Given the description of an element on the screen output the (x, y) to click on. 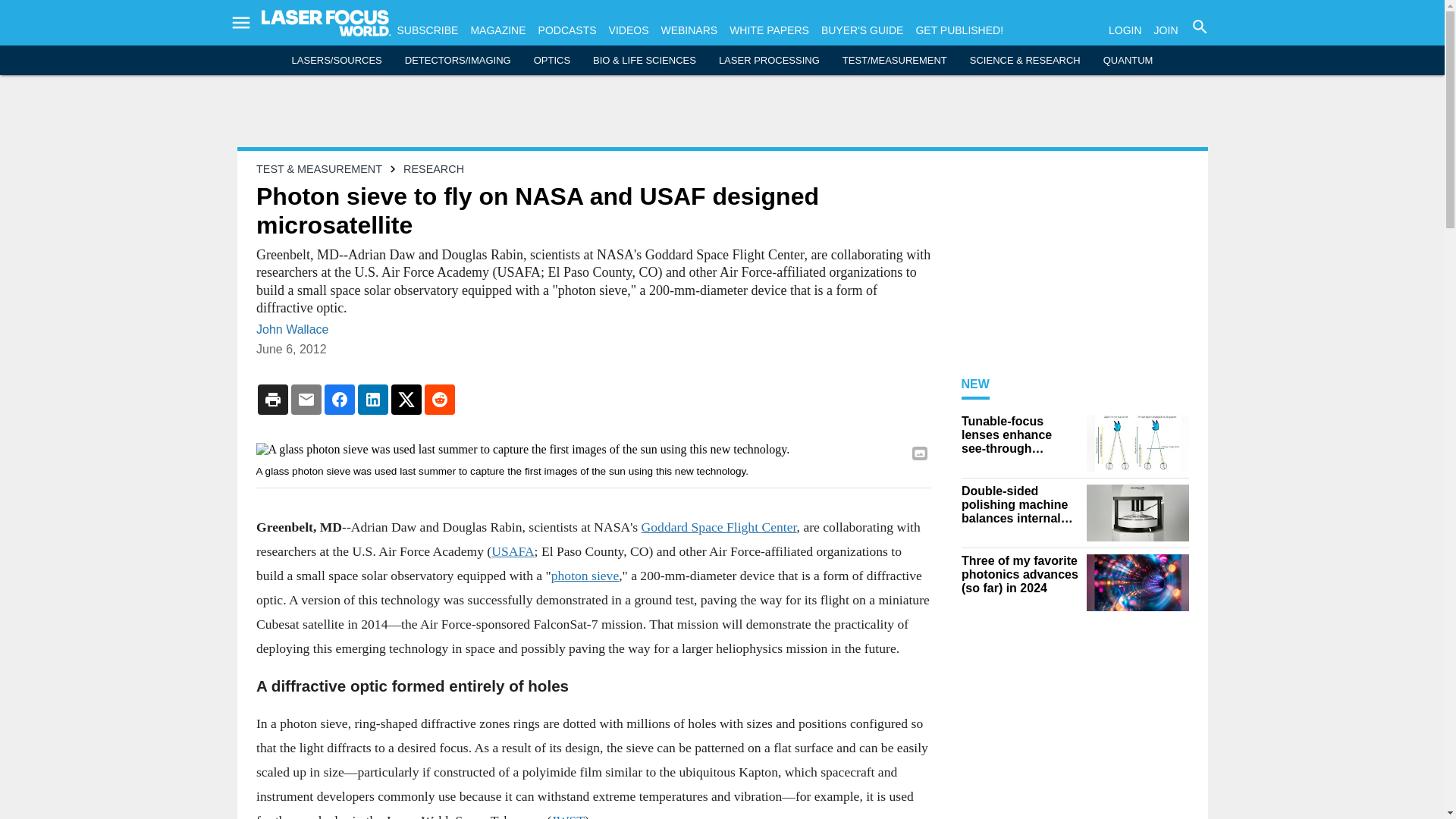
PODCASTS (567, 30)
WEBINARS (689, 30)
LASER PROCESSING (769, 60)
QUANTUM (1128, 60)
SUBSCRIBE (427, 30)
BUYER'S GUIDE (861, 30)
LOGIN (1124, 30)
WHITE PAPERS (769, 30)
VIDEOS (628, 30)
